Given the description of an element on the screen output the (x, y) to click on. 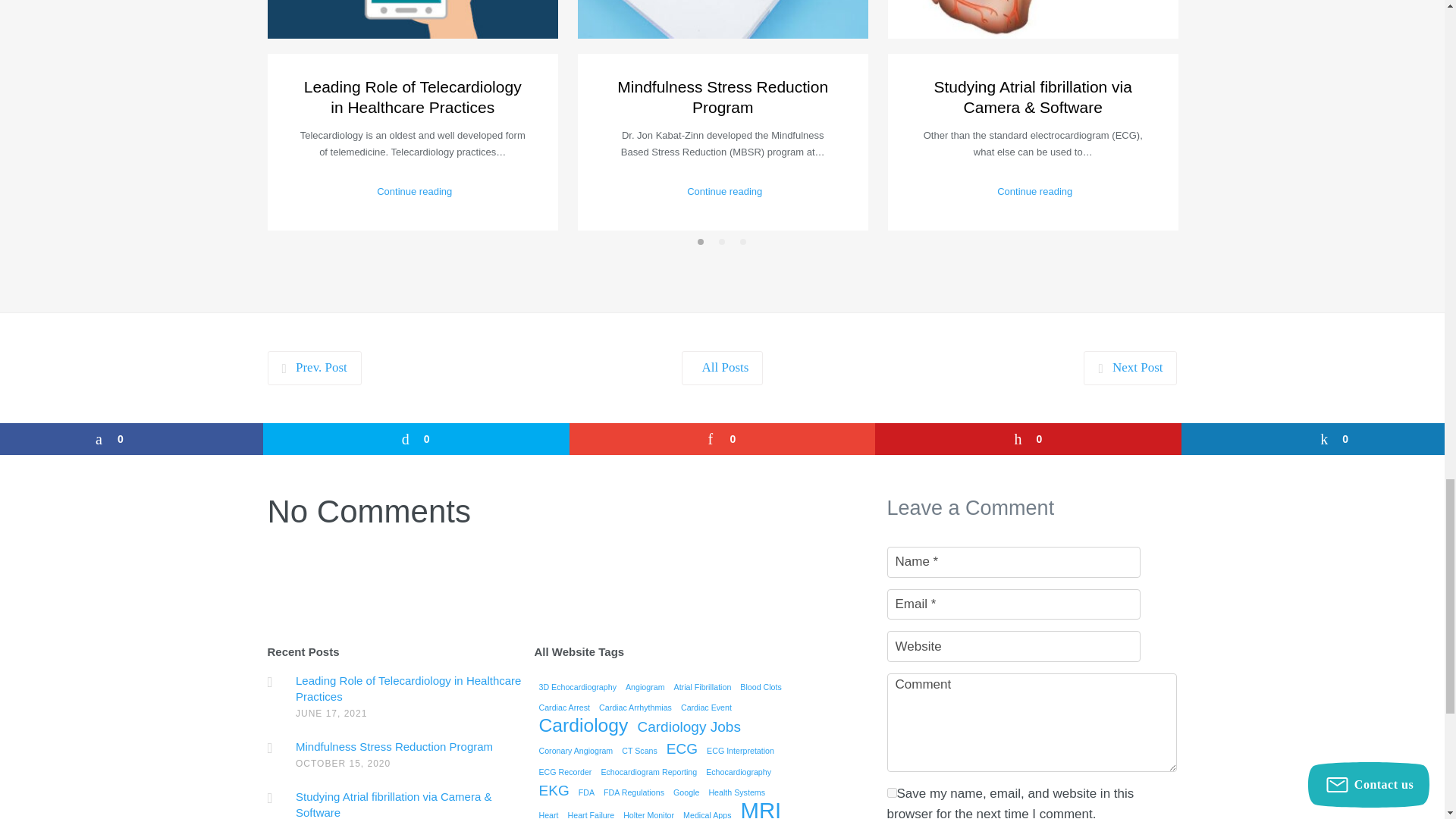
atrial-fibrillation (1031, 19)
telecardiology (411, 19)
yes (891, 792)
